Given the description of an element on the screen output the (x, y) to click on. 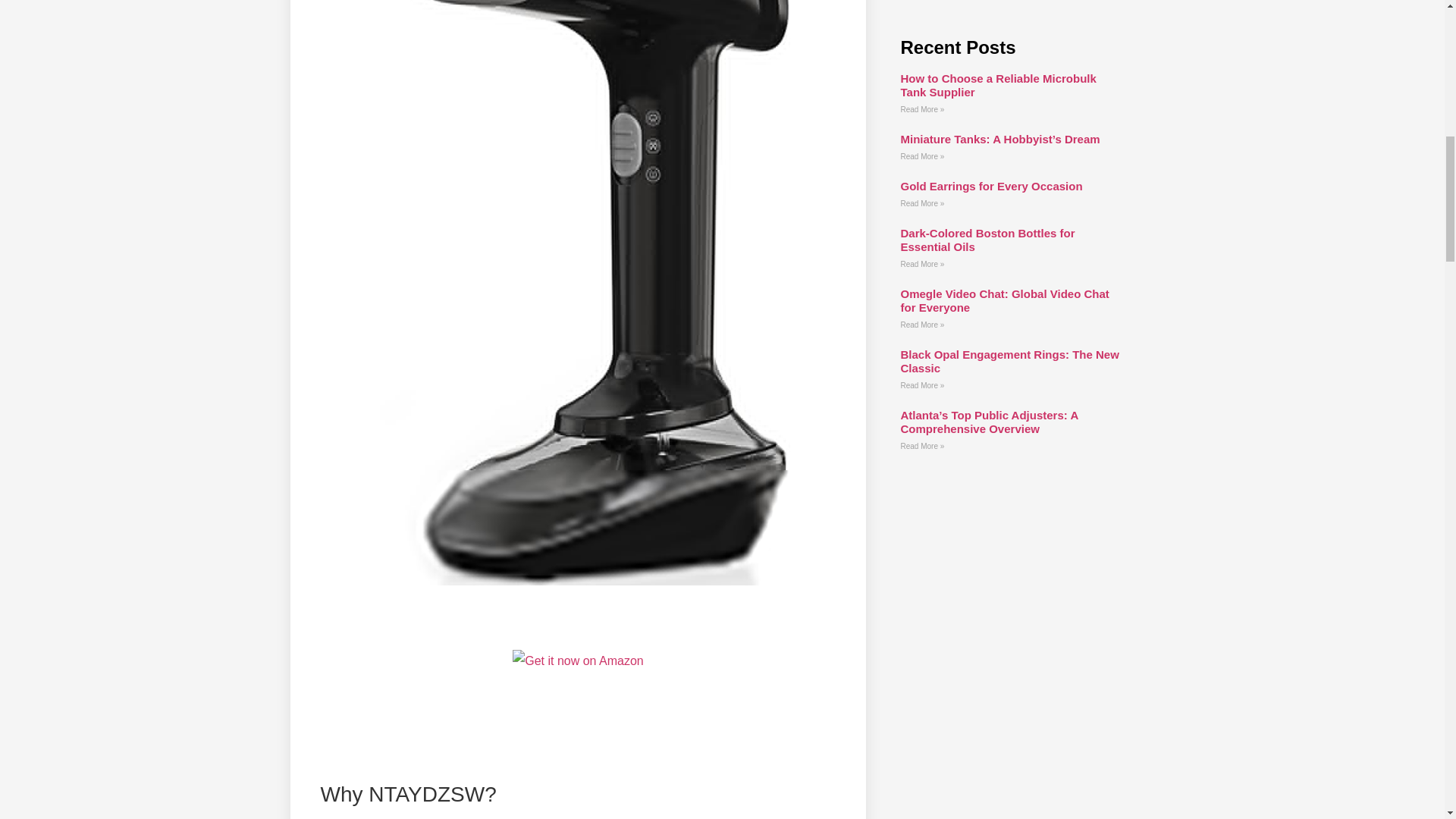
Gold Earrings for Every Occasion (990, 185)
How to Choose a Reliable Microbulk Tank Supplier (997, 85)
Omegle Video Chat: Global Video Chat for Everyone (1003, 300)
Dark-Colored Boston Bottles for Essential Oils (986, 239)
Black Opal Engagement Rings: The New Classic (1008, 361)
